Given the description of an element on the screen output the (x, y) to click on. 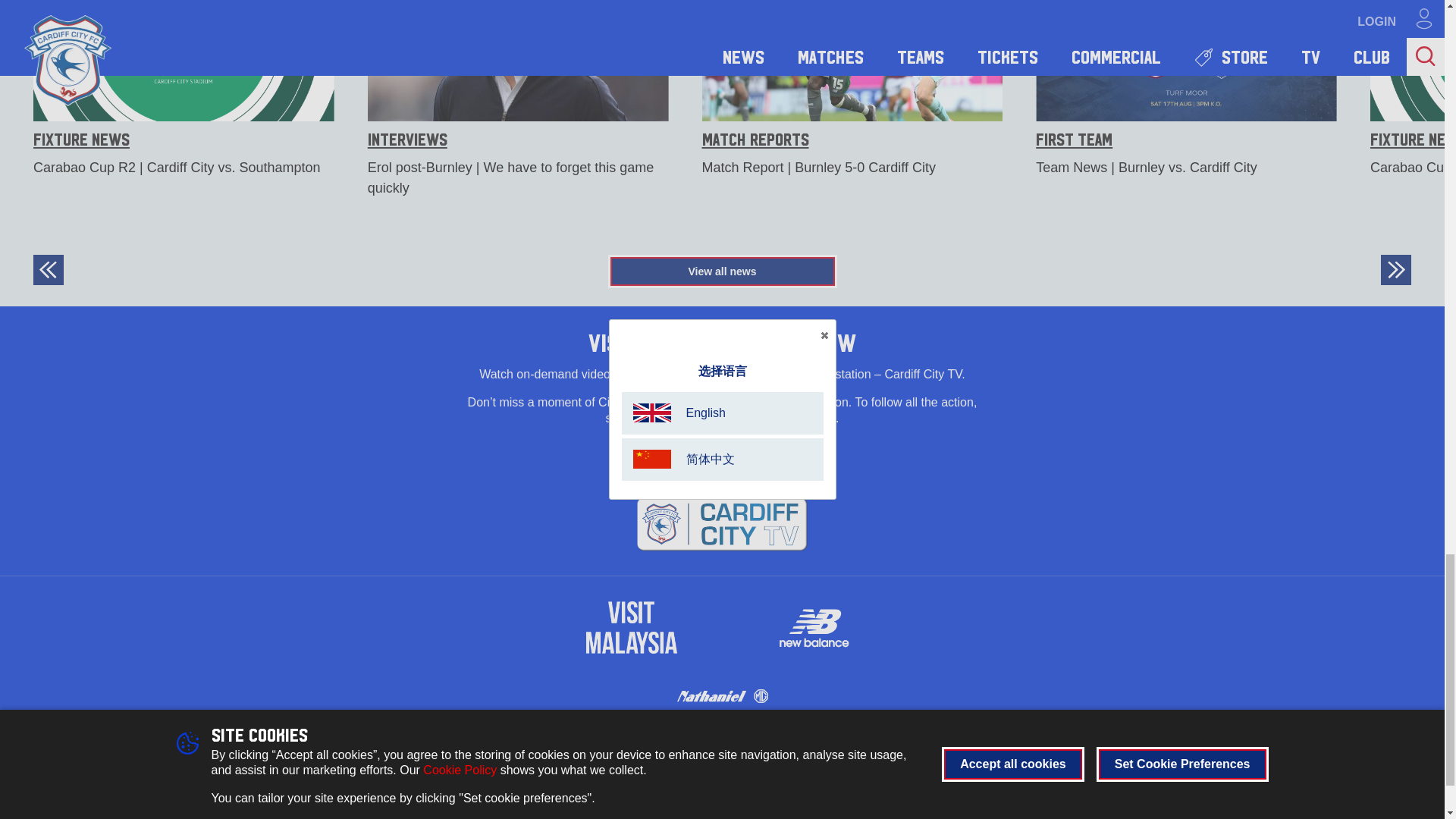
Visit Malaysia (631, 627)
New Balance (813, 627)
Nathaniel Cars (722, 695)
